Given the description of an element on the screen output the (x, y) to click on. 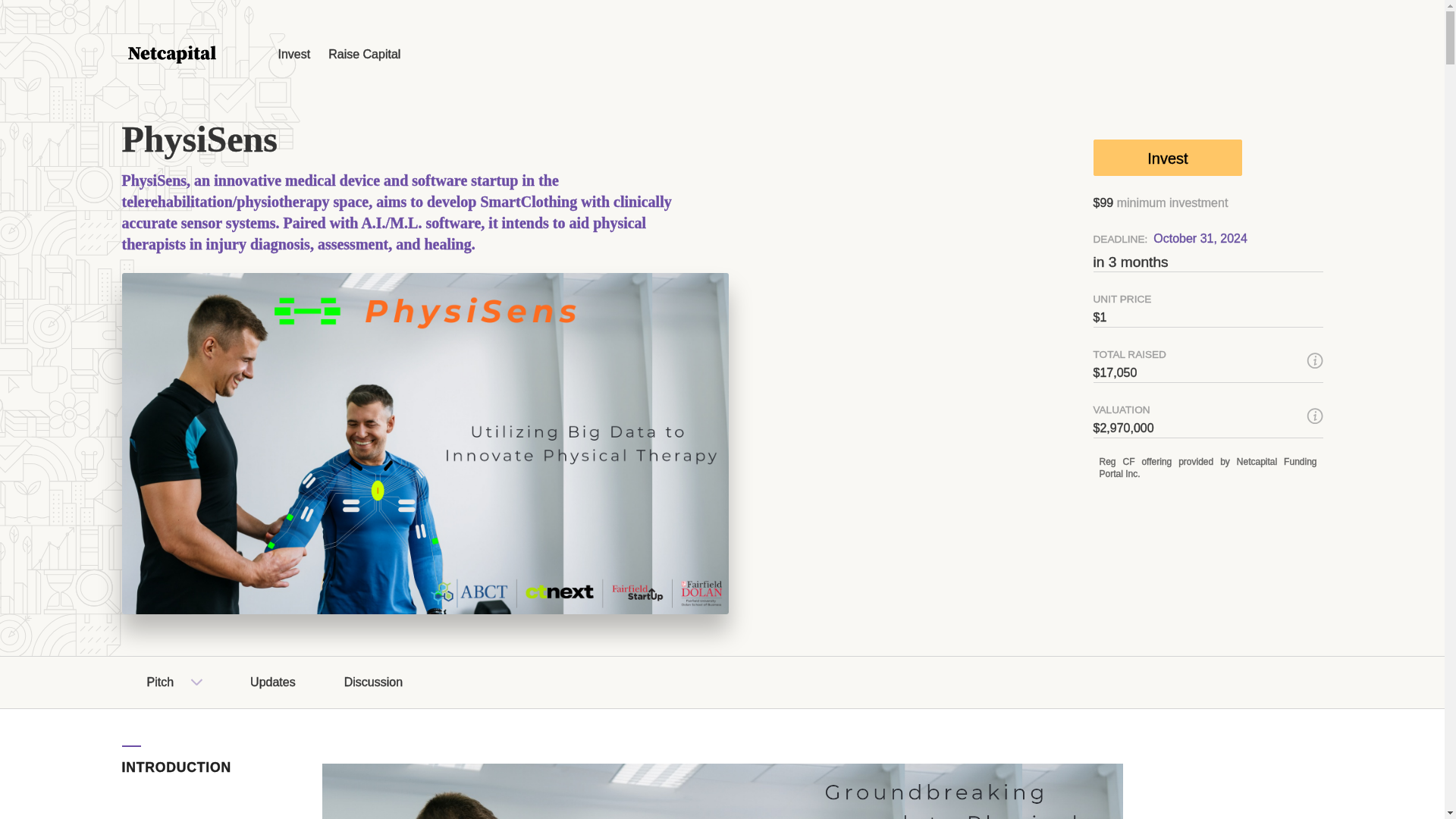
Pitch (160, 681)
Invest (1168, 157)
Discussion (373, 681)
Raise Capital (364, 53)
Invest (294, 53)
Updates (272, 681)
